Given the description of an element on the screen output the (x, y) to click on. 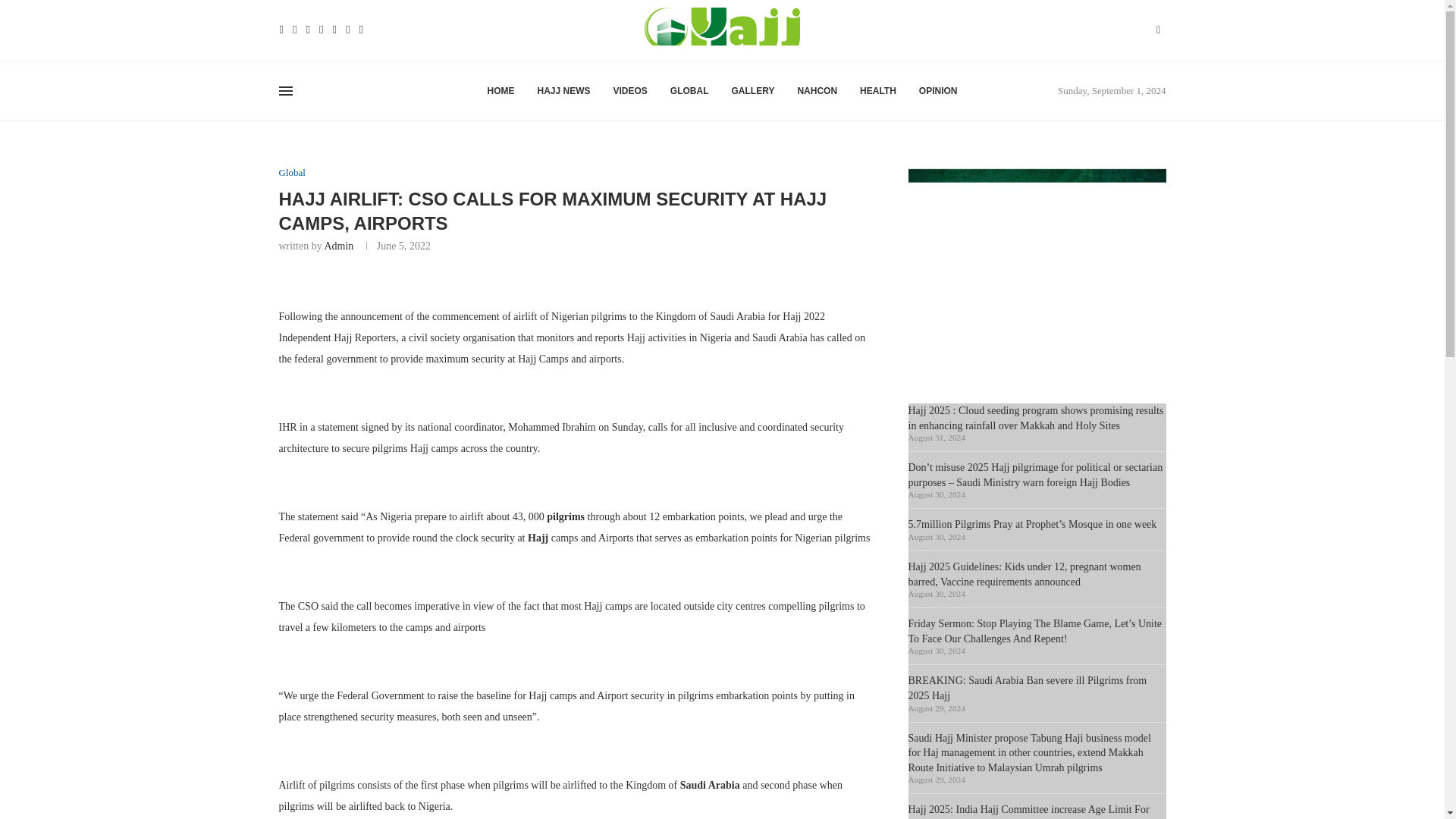
HAJJ NEWS (563, 90)
GALLERY (753, 90)
NAHCON (816, 90)
